Given the description of an element on the screen output the (x, y) to click on. 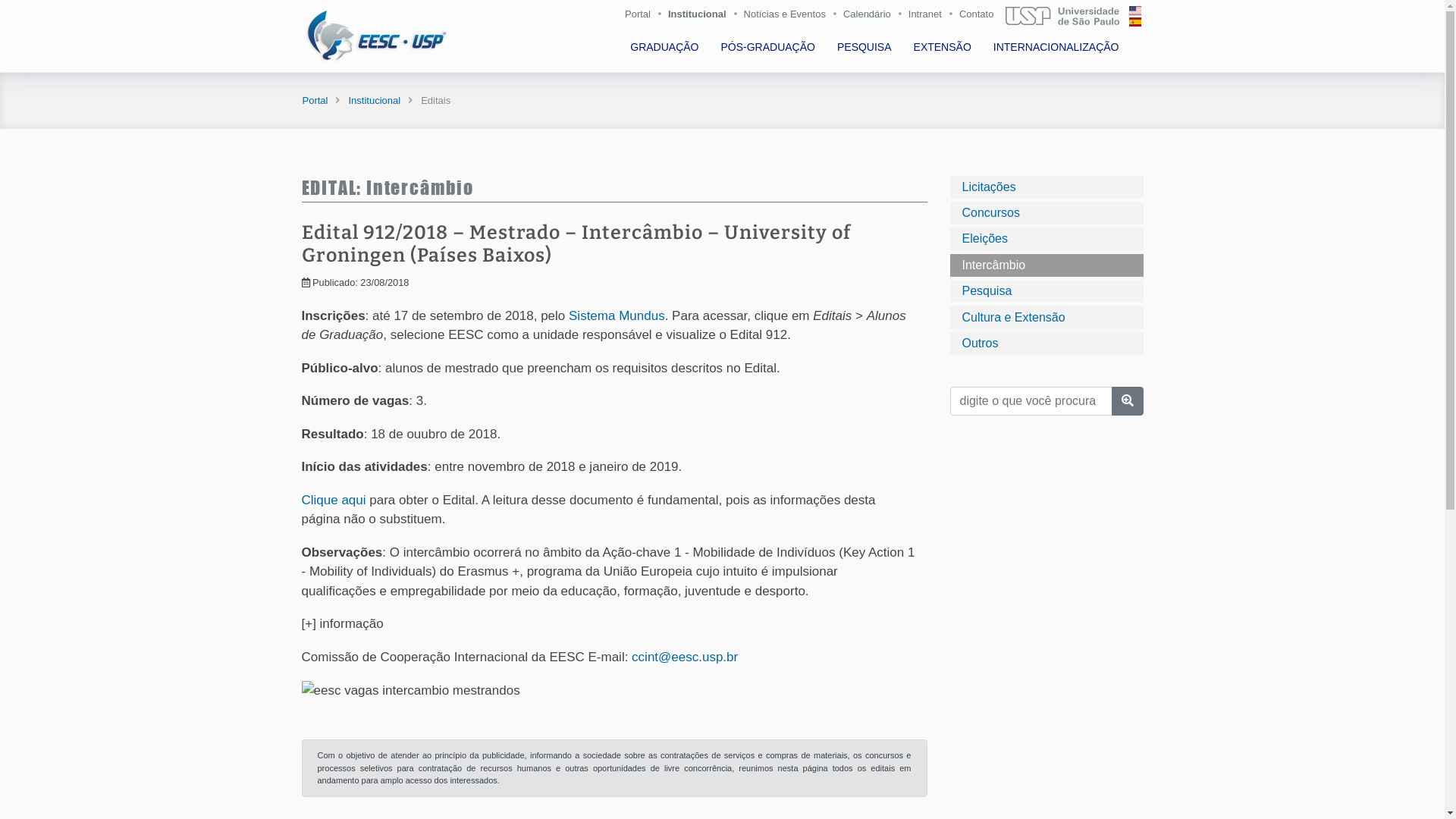
Portal Element type: text (314, 100)
Sistema Mundus Element type: text (616, 314)
Clique aqui Element type: text (333, 499)
Institucional Element type: text (701, 16)
Institucional Element type: text (374, 100)
Contato Element type: text (982, 16)
PESQUISA Element type: text (865, 47)
Concursos Element type: text (1045, 212)
Portal Element type: text (641, 16)
ccint@eesc.usp.br Element type: text (684, 656)
Outros Element type: text (1045, 343)
Intranet Element type: text (928, 16)
Pesquisa Element type: text (1045, 290)
